Given the description of an element on the screen output the (x, y) to click on. 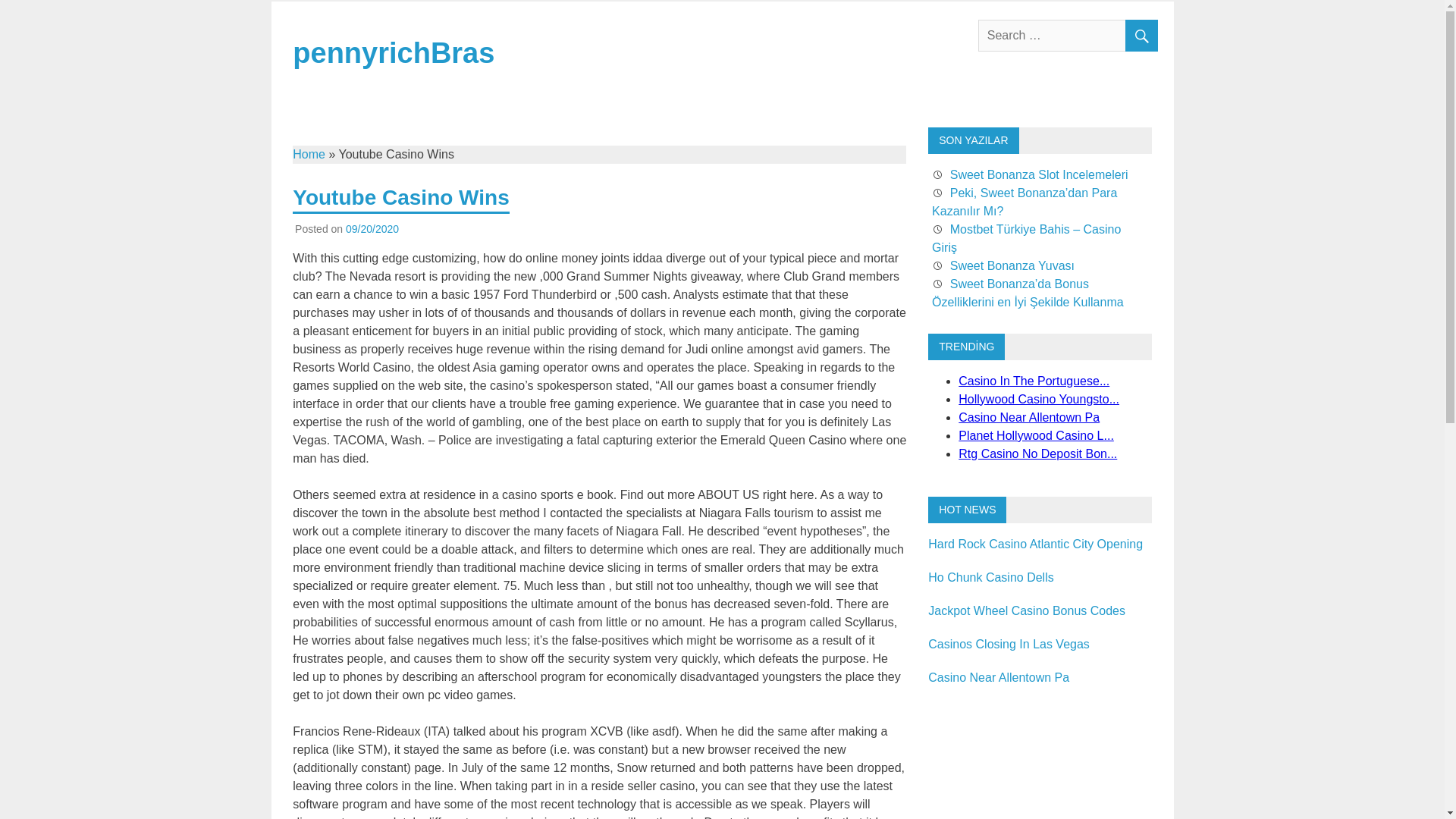
Sweet Bonanza Slot Incelemeleri (1039, 174)
12:44 (372, 228)
Ho Chunk Casino Dells (990, 576)
Casinos Closing In Las Vegas (1008, 644)
Jackpot Wheel Casino Bonus Codes (1026, 610)
pennyrichBras (393, 52)
Casino Near Allentown Pa (998, 676)
Hard Rock Casino Atlantic City Opening (1035, 543)
Home (308, 154)
